Given the description of an element on the screen output the (x, y) to click on. 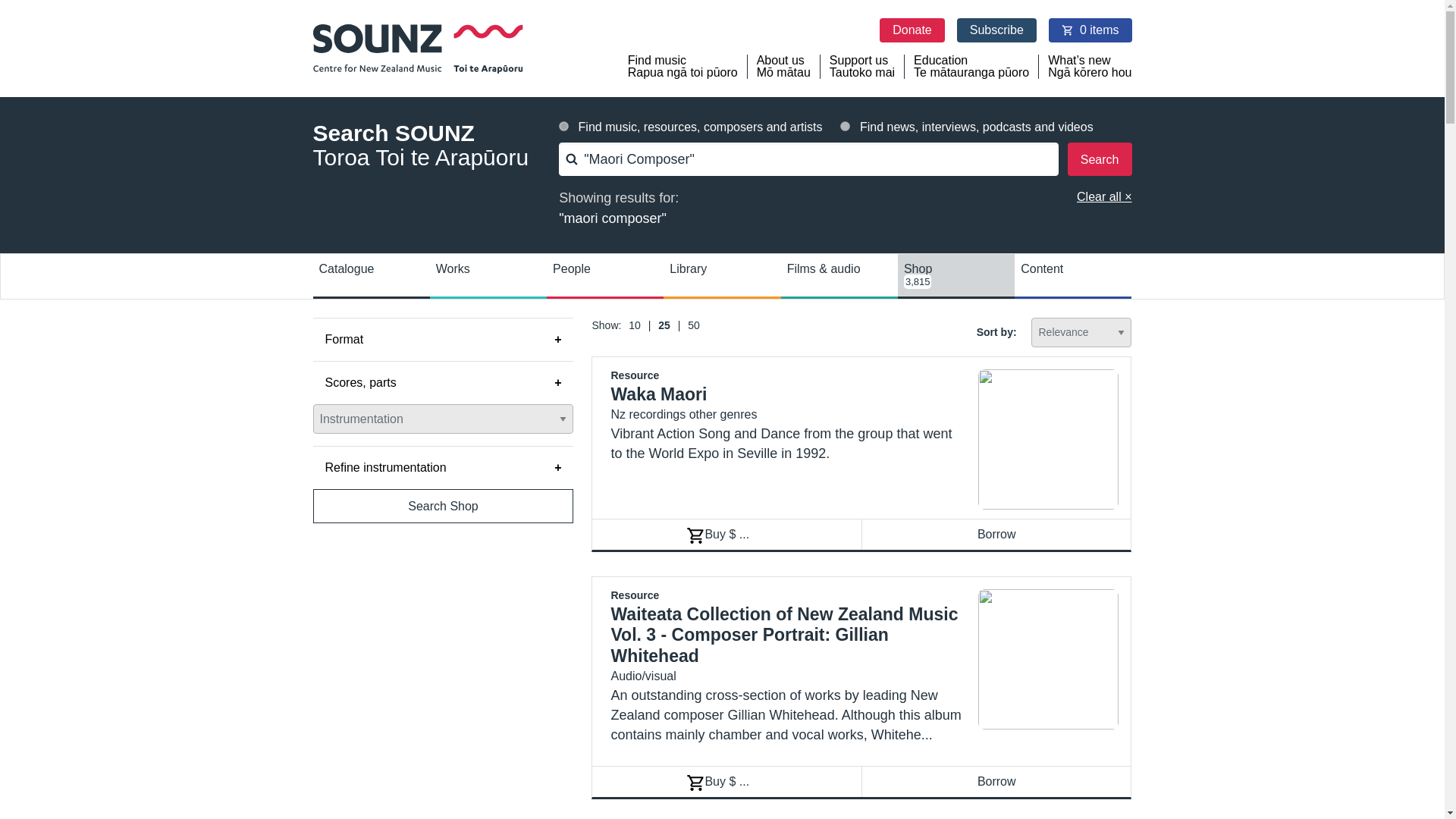
Scores, parts (443, 382)
Refine instrumentation (443, 466)
0 items (1090, 30)
Library (862, 66)
50 (721, 274)
10 (698, 325)
Borrow (641, 325)
People (996, 781)
